Given the description of an element on the screen output the (x, y) to click on. 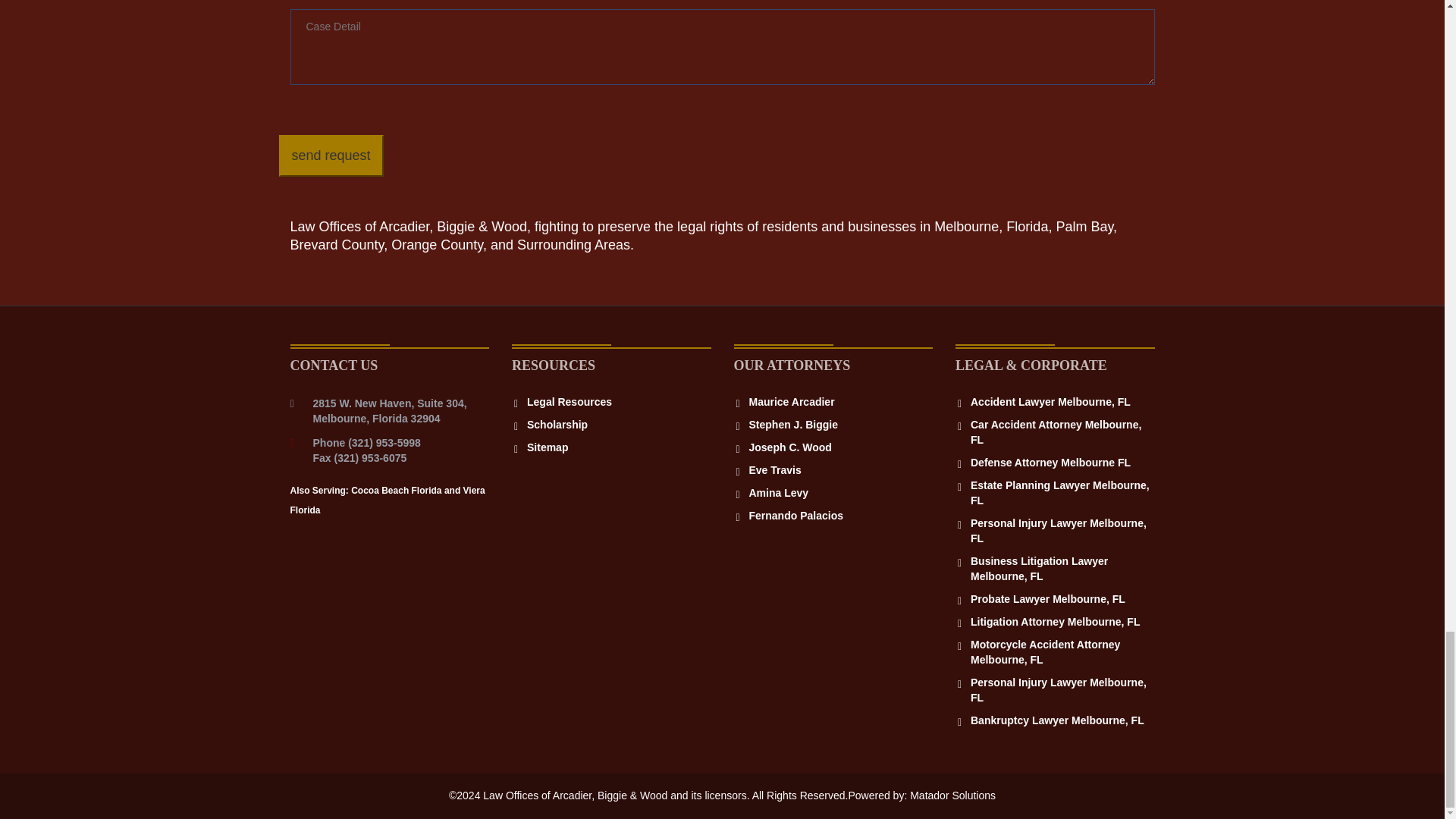
send request (331, 155)
